Given the description of an element on the screen output the (x, y) to click on. 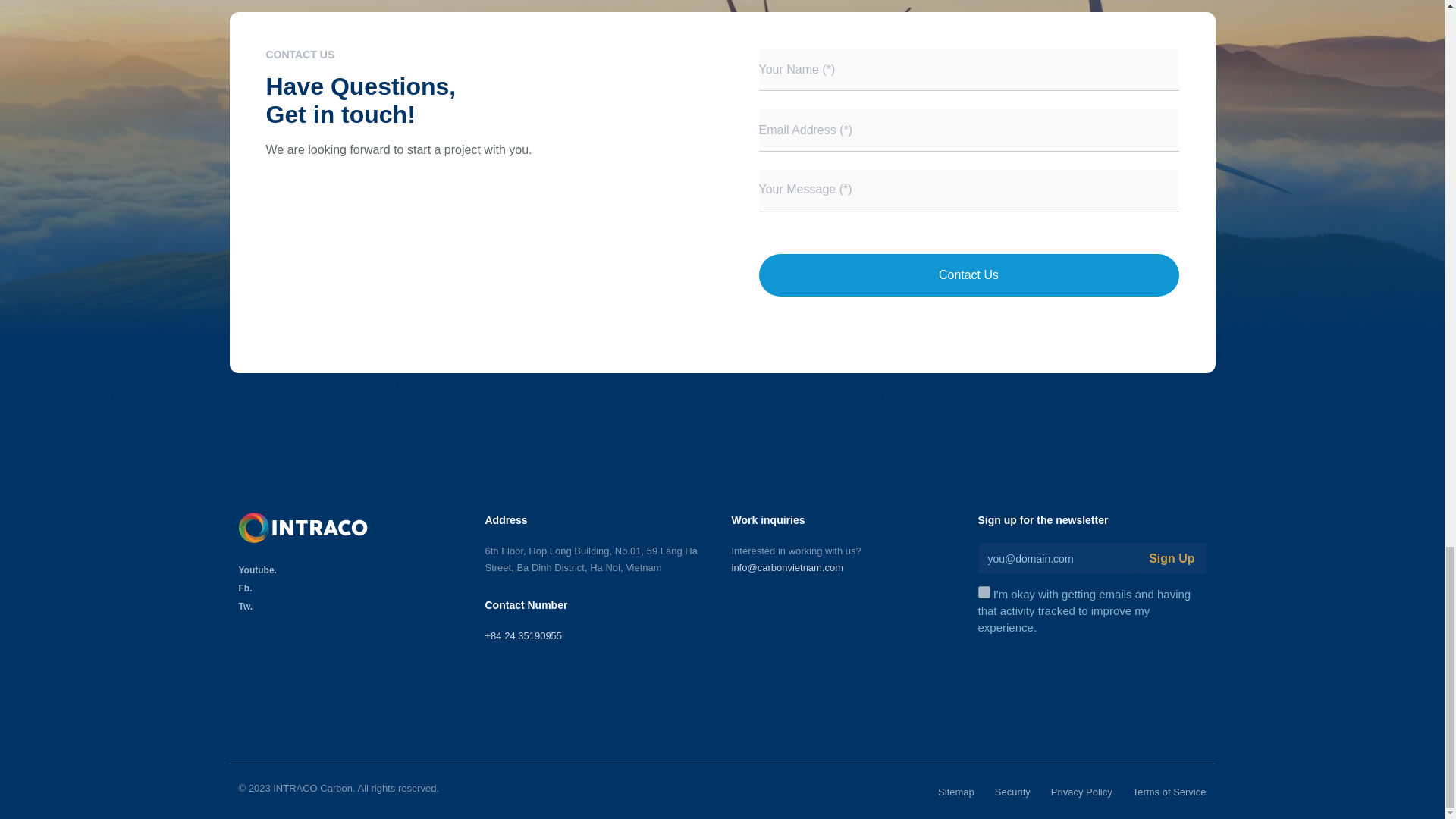
Contact Us (967, 274)
Fb. (351, 588)
Contact Us (967, 274)
Youtube. (351, 570)
Tw. (351, 606)
Sign Up (1171, 558)
